Given the description of an element on the screen output the (x, y) to click on. 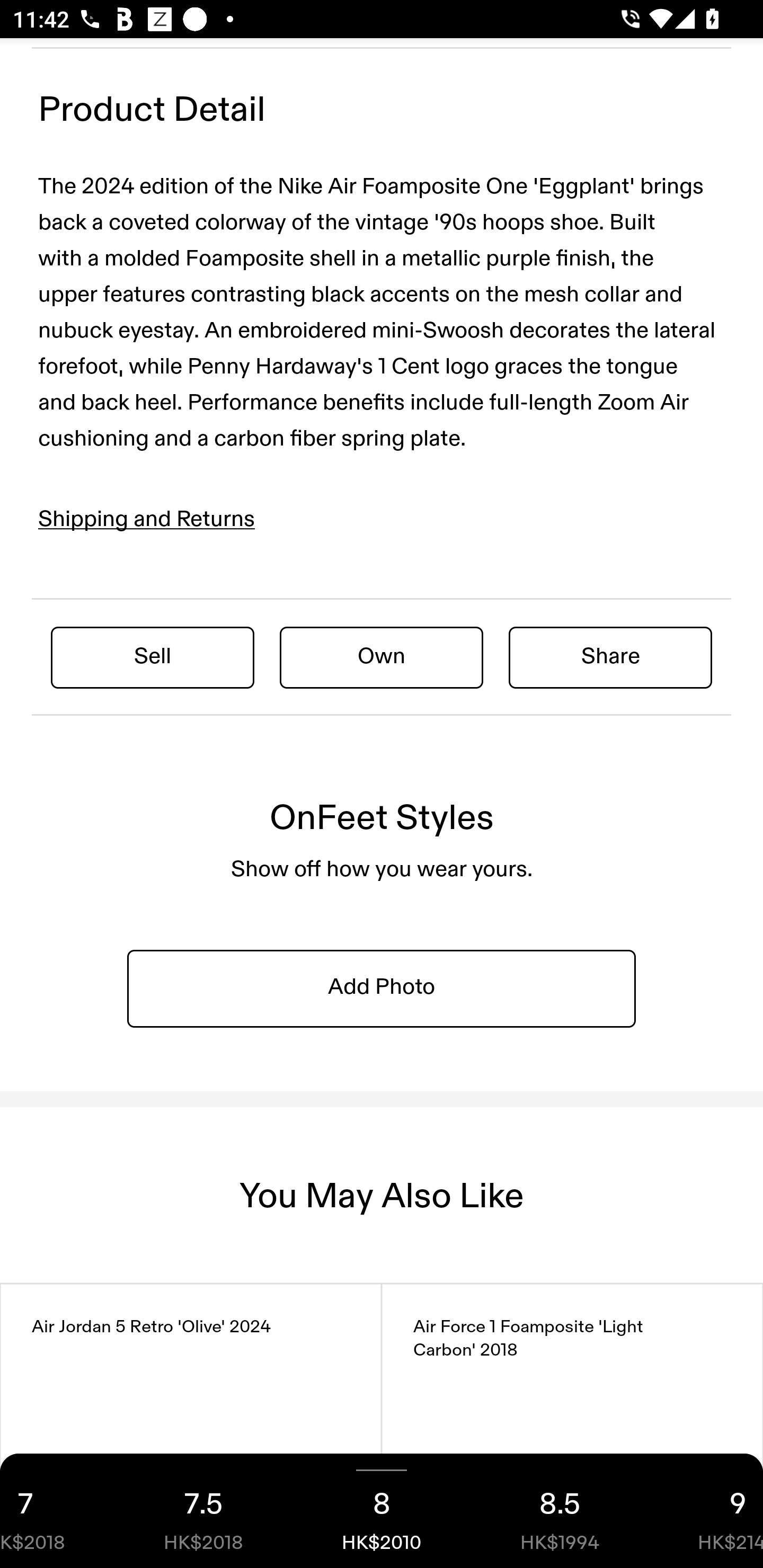
Shipping and Returns (146, 519)
Sell (152, 656)
Own (381, 656)
Share (609, 656)
Add Photo (381, 987)
Air Jordan 5 Retro 'Olive' 2024 (190, 1426)
Air Force 1 Foamposite 'Light Carbon' 2018 (572, 1426)
7 HK$2018 (57, 1510)
7.5 HK$2018 (203, 1510)
8 HK$2010 (381, 1510)
8.5 HK$1994 (559, 1510)
9 HK$2144 (705, 1510)
